Given the description of an element on the screen output the (x, y) to click on. 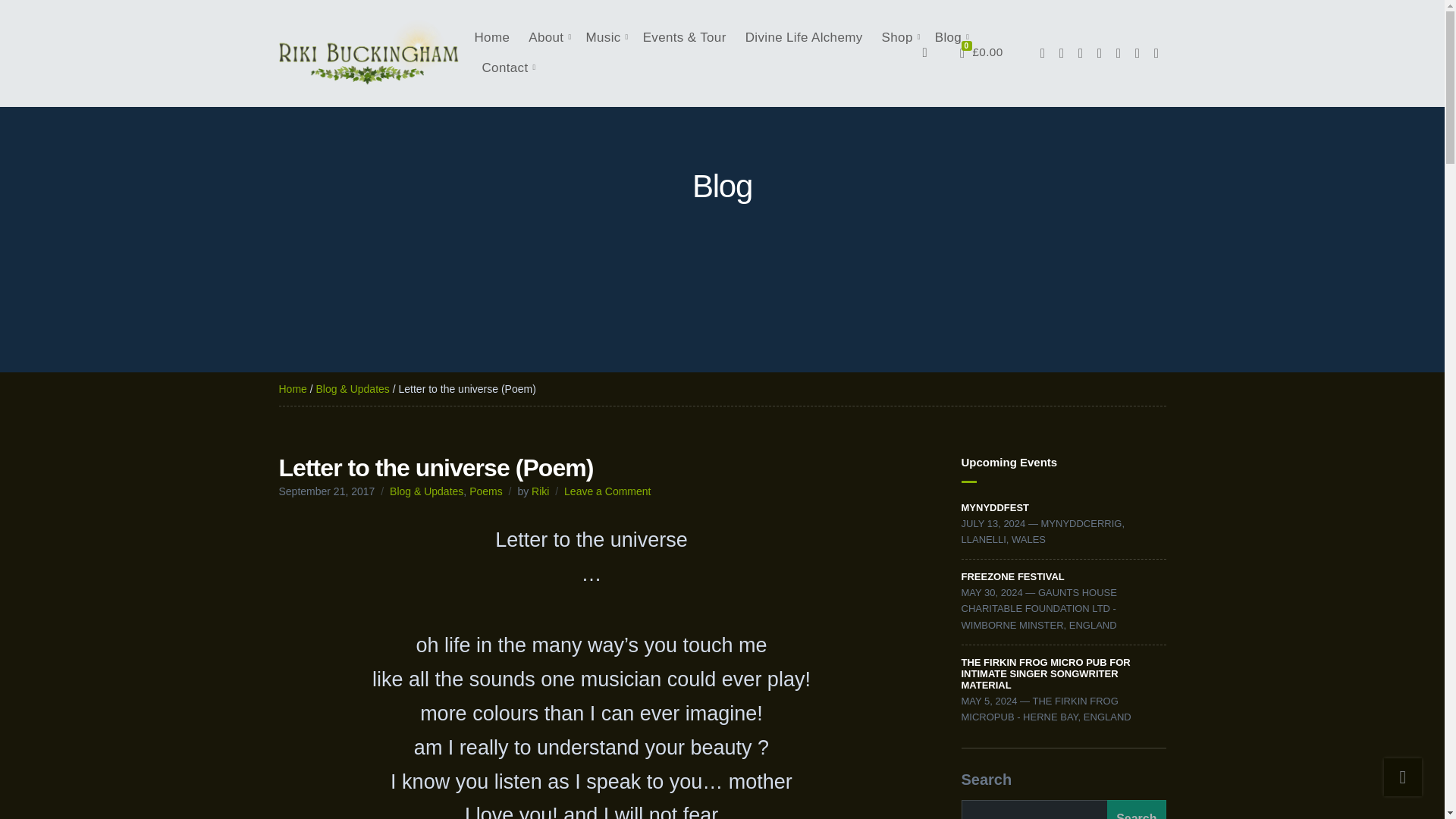
Riki (539, 491)
Facebook (1061, 52)
Shop (898, 37)
Home (492, 37)
Twitter (1099, 52)
About (547, 37)
Spotify (1155, 52)
Blog (948, 37)
Bandcamp (1137, 52)
Home (293, 388)
